Given the description of an element on the screen output the (x, y) to click on. 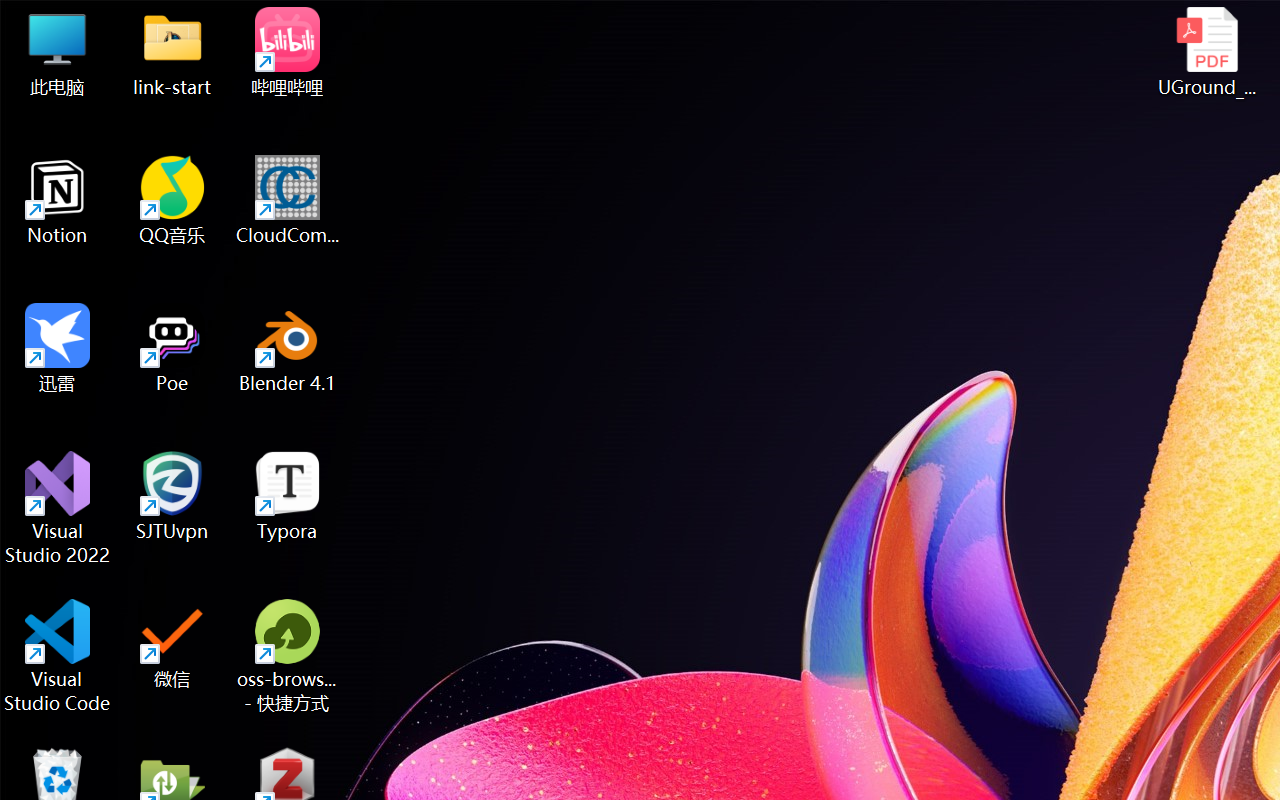
Typora (287, 496)
Blender 4.1 (287, 348)
SJTUvpn (172, 496)
UGround_paper.pdf (1206, 52)
CloudCompare (287, 200)
Visual Studio Code (57, 656)
Visual Studio 2022 (57, 508)
